Given the description of an element on the screen output the (x, y) to click on. 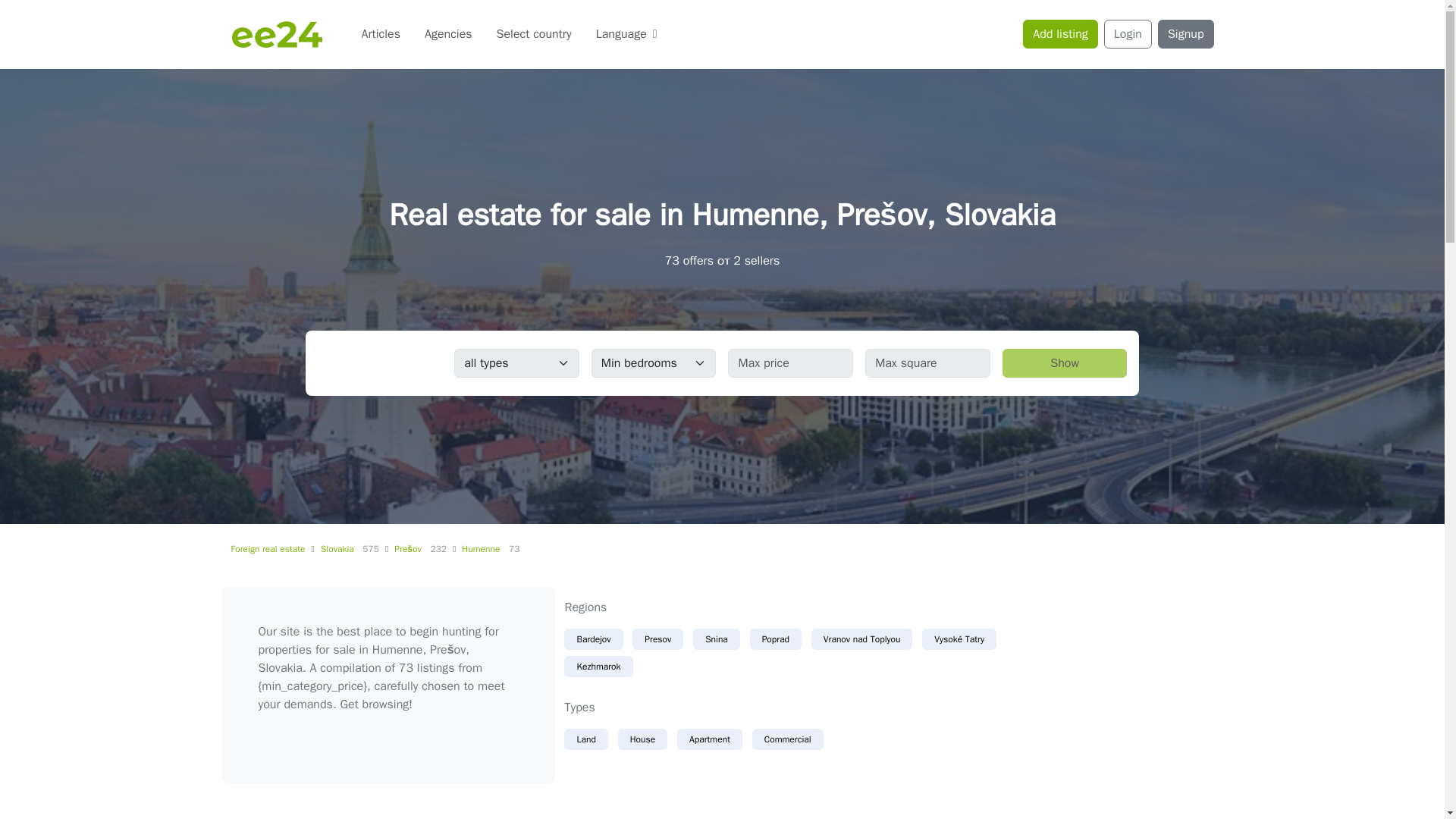
Show (1064, 362)
Land (585, 739)
Property type (516, 362)
Foreign real estate (267, 548)
House (642, 739)
Add listing (1060, 33)
Vranov nad Toplyou (861, 639)
Kezhmarok (597, 666)
Signup (1185, 33)
Bardejov (593, 639)
Snina (716, 639)
Select country (533, 33)
Agencies (448, 33)
Apartment (709, 739)
Commercial (788, 739)
